Given the description of an element on the screen output the (x, y) to click on. 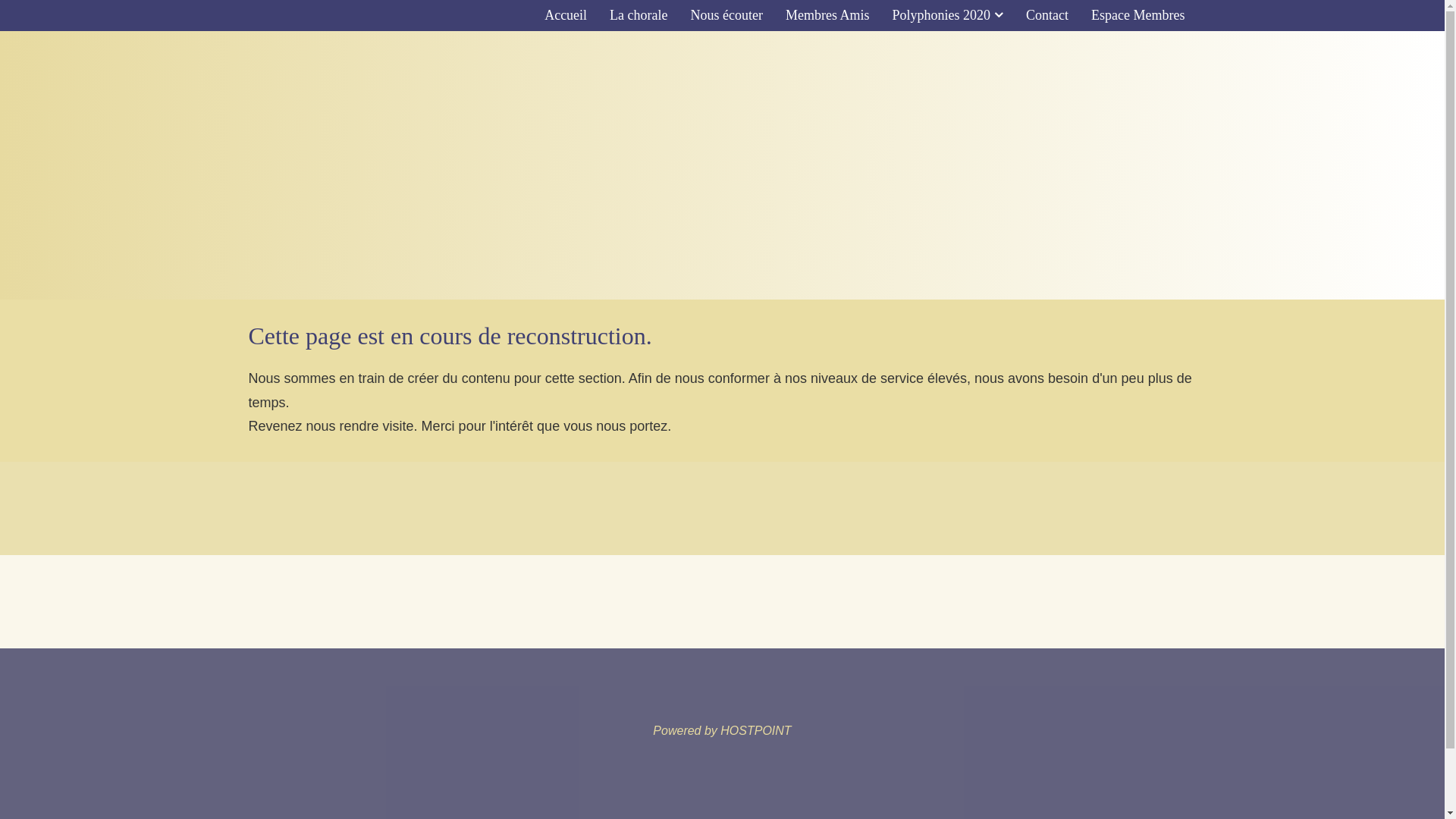
Membres Amis Element type: text (827, 14)
Polyphonies 2020 Element type: text (948, 14)
Accueil Element type: text (565, 14)
Contact Element type: text (1047, 14)
Espace Membres Element type: text (1137, 14)
La chorale Element type: text (638, 14)
